Given the description of an element on the screen output the (x, y) to click on. 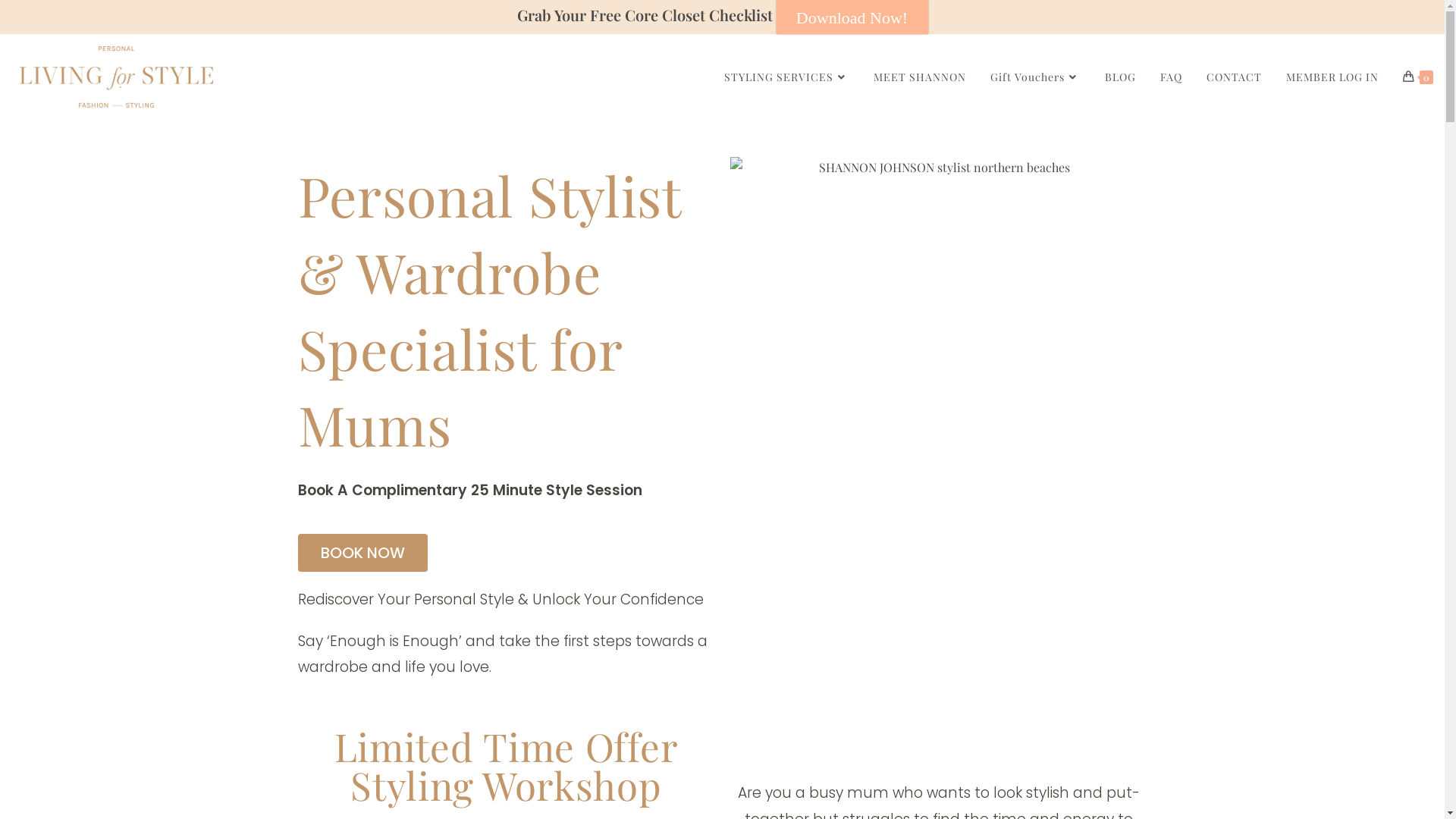
MEET SHANNON Element type: text (919, 76)
MEMBER LOG IN Element type: text (1332, 76)
STYLING SERVICES Element type: text (786, 76)
Download Now! Element type: text (852, 17)
BLOG Element type: text (1120, 76)
Gift Vouchers Element type: text (1035, 76)
CONTACT Element type: text (1234, 76)
FAQ Element type: text (1171, 76)
0 Element type: text (1417, 76)
BOOK NOW Element type: text (361, 552)
